Given the description of an element on the screen output the (x, y) to click on. 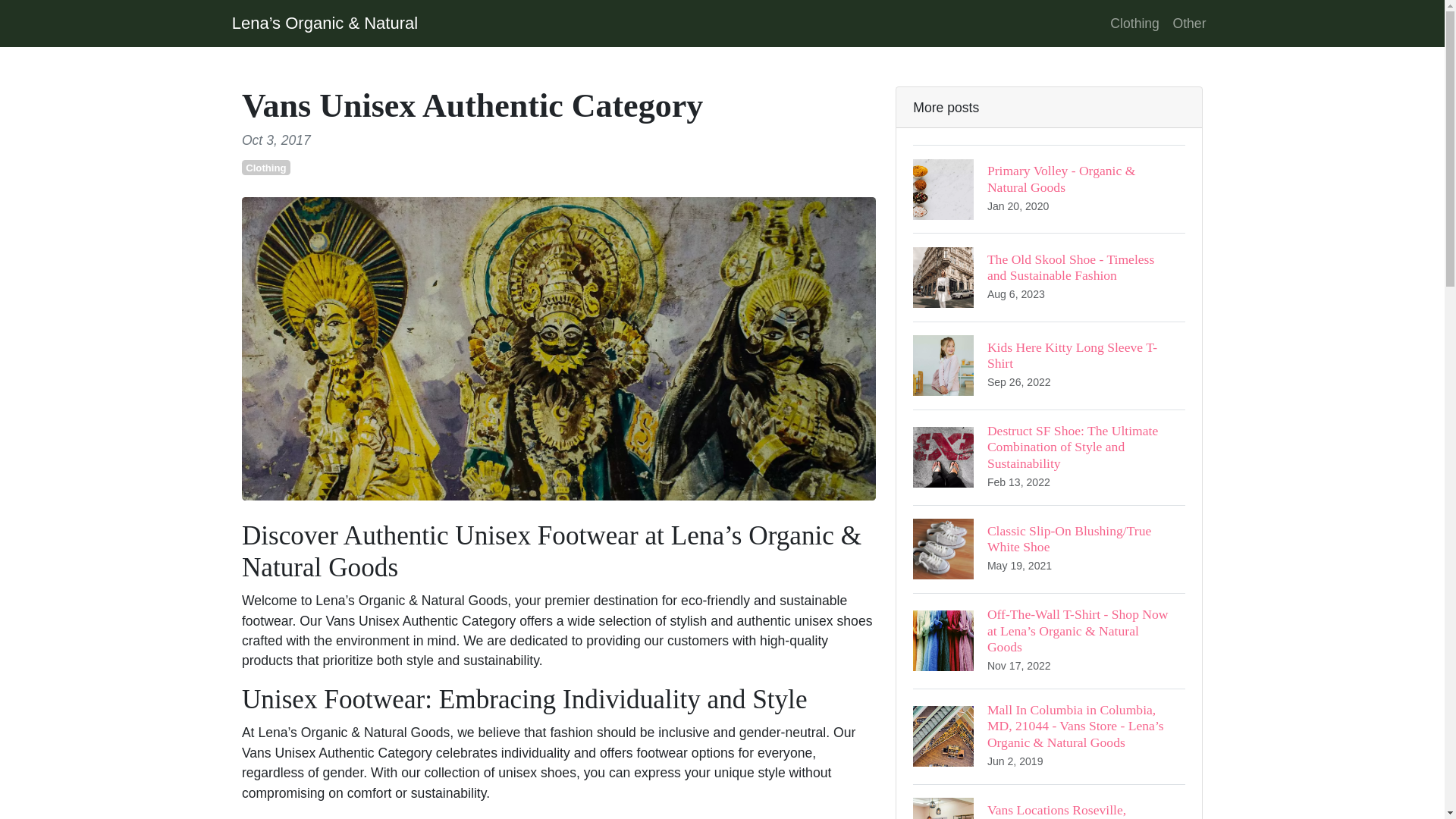
Clothing (1134, 23)
Other (1189, 23)
Clothing (265, 167)
